Given the description of an element on the screen output the (x, y) to click on. 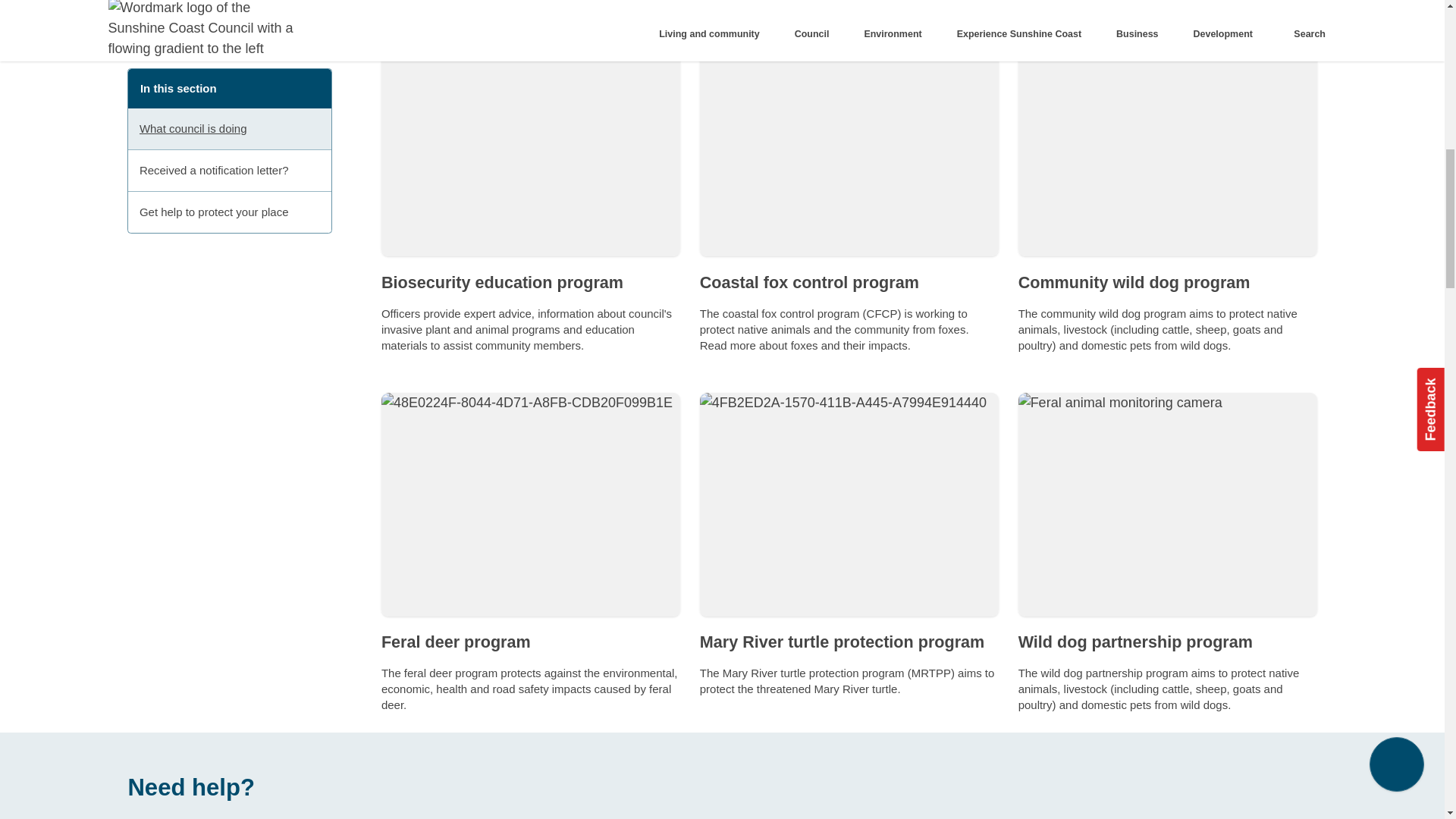
Coastal fox control program (809, 282)
Feral deer program (456, 641)
Biosecurity education program (502, 282)
Community wild dog program (1133, 282)
Go back to top (1396, 156)
Back to top (1396, 156)
